Given the description of an element on the screen output the (x, y) to click on. 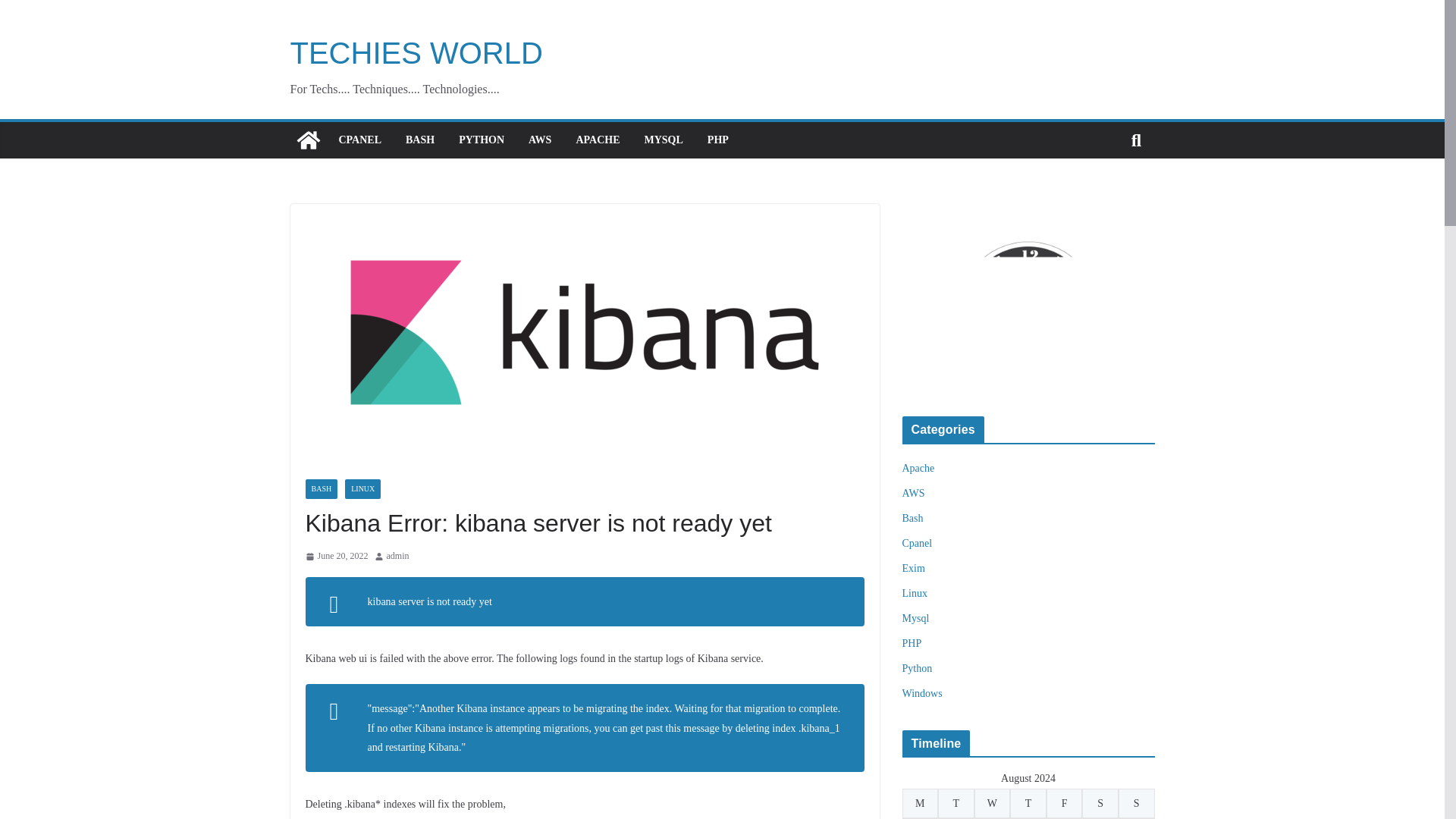
Bash (912, 518)
admin (398, 556)
Sunday (1136, 803)
June 20, 2022 (336, 556)
Cpanel (917, 542)
PHP (911, 643)
AWS (539, 139)
Exim (913, 568)
Friday (1064, 803)
Saturday (1099, 803)
